Given the description of an element on the screen output the (x, y) to click on. 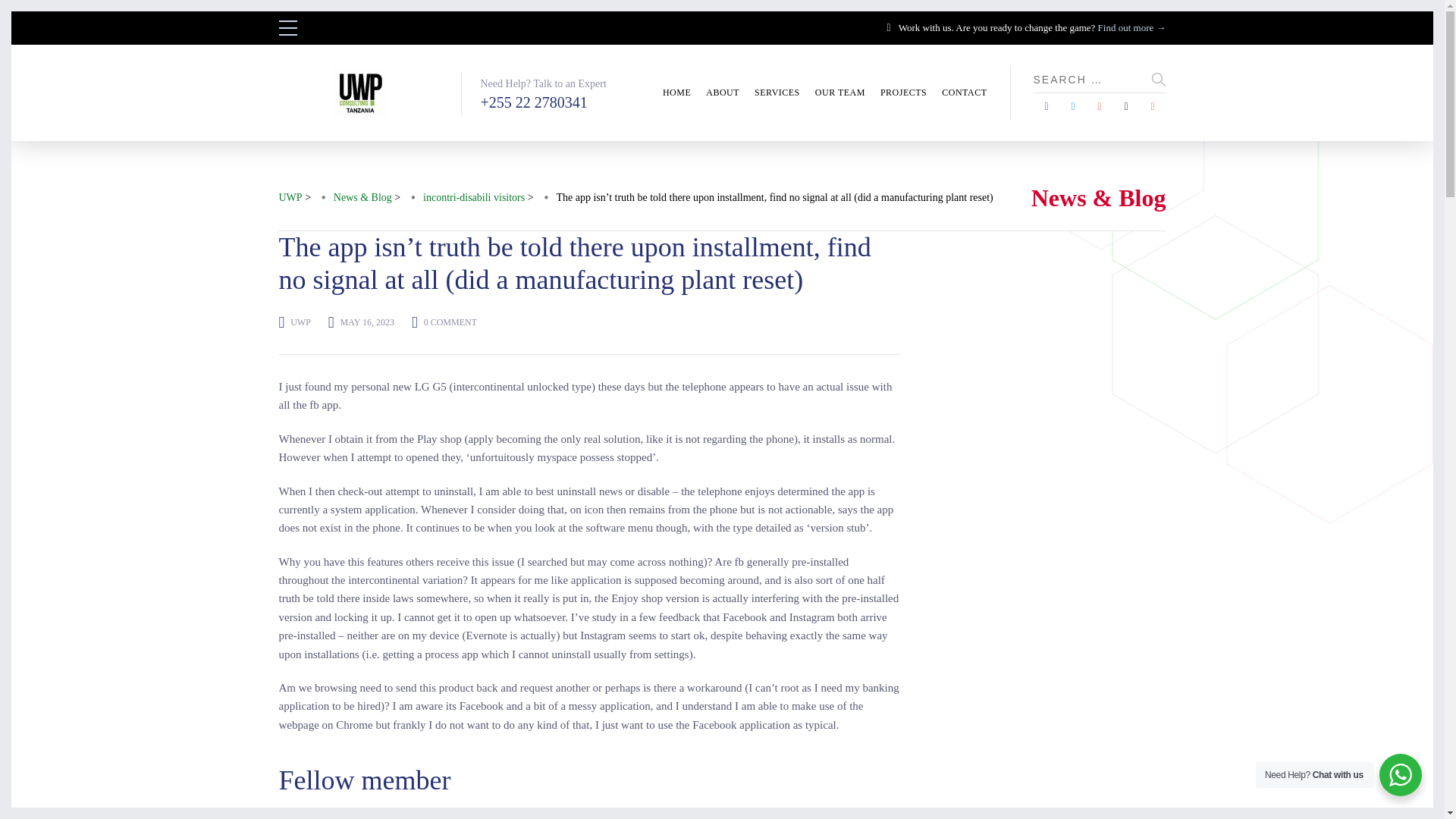
Search (1158, 79)
SERVICES (776, 92)
Go to the incontri-disabili visitors Category archives. (473, 198)
Search (1158, 79)
incontri-disabili visitors (473, 198)
Posts by uwp (300, 321)
Search (7, 7)
Search (1158, 79)
UWP (300, 321)
PROJECTS (903, 92)
0 COMMENT (450, 321)
OUR TEAM (839, 92)
